Given the description of an element on the screen output the (x, y) to click on. 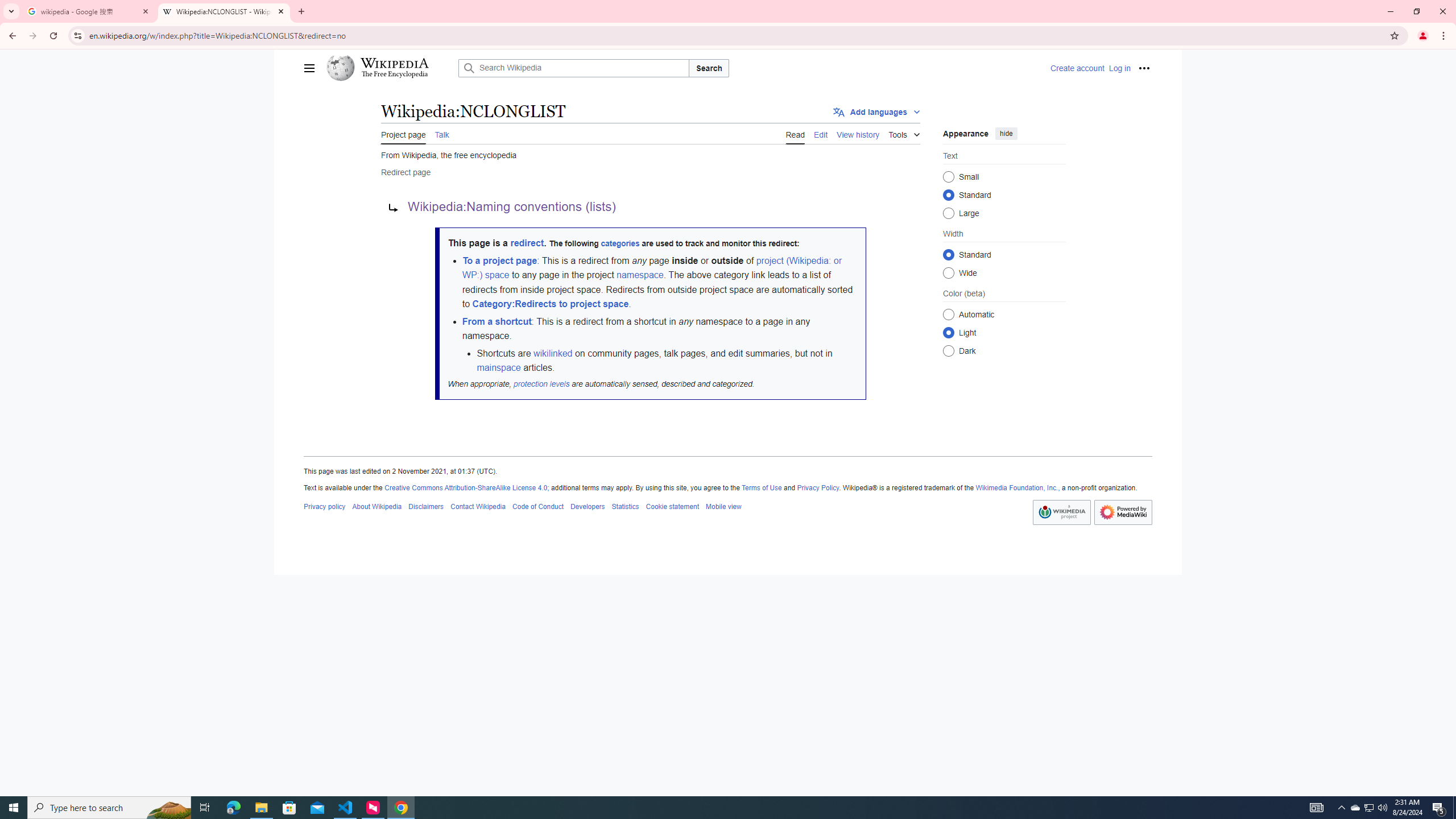
Large (948, 212)
AutomationID: footer-places-developers (587, 506)
About Wikipedia (376, 506)
hide (1006, 133)
redirect (526, 243)
protection levels (540, 383)
Tools (904, 132)
AutomationID: ca-history (858, 133)
Dark (948, 350)
Mobile view (722, 506)
Developers (587, 506)
AutomationID: footer-places-disclaimers (425, 506)
AutomationID: ca-nstab-project (403, 133)
Minimize (1390, 11)
